Given the description of an element on the screen output the (x, y) to click on. 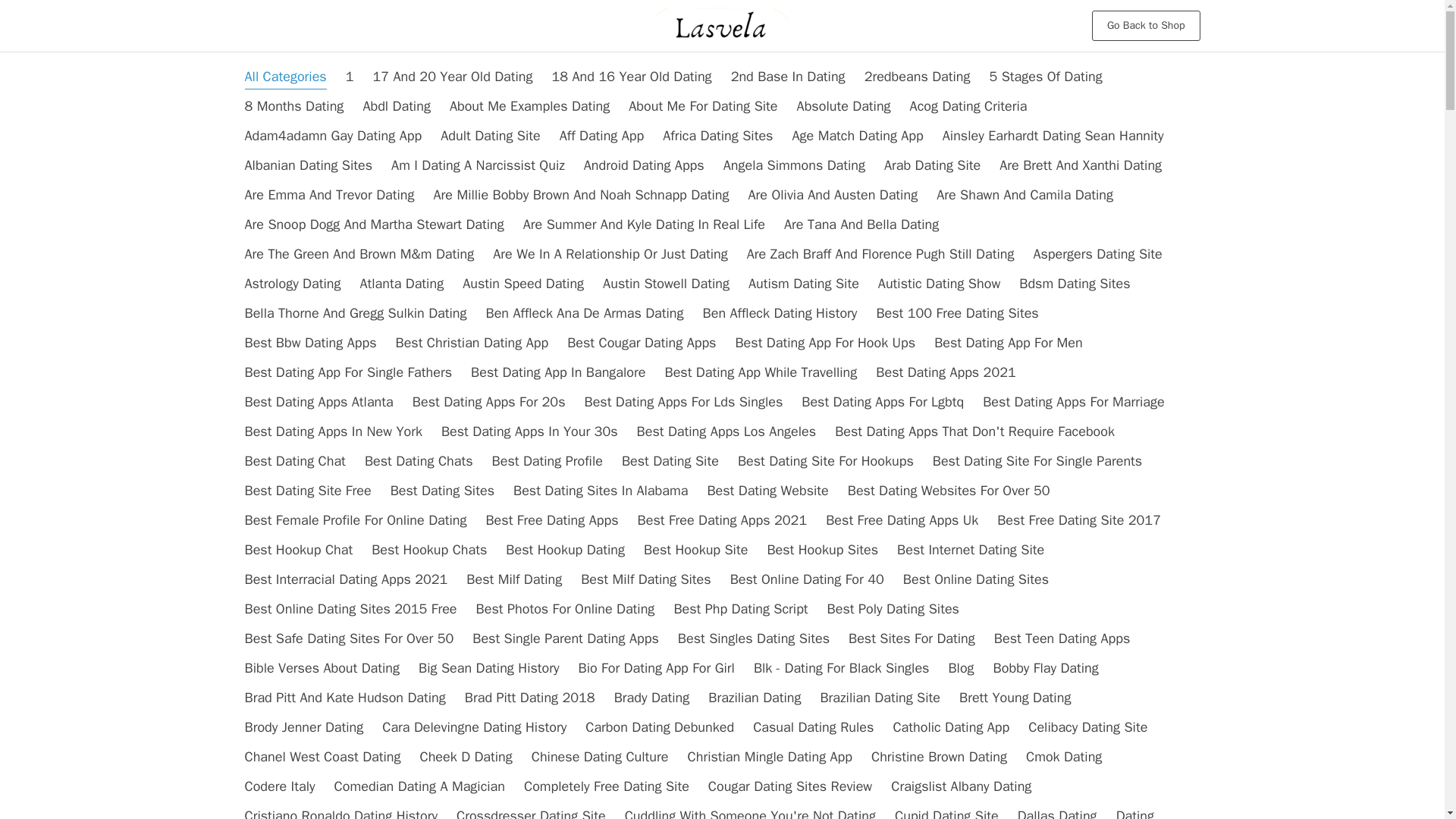
Ainsley Earhardt Dating Sean Hannity (1052, 135)
Are Shawn And Camila Dating (1024, 194)
Am I Dating A Narcissist Quiz (477, 165)
Are Snoop Dogg And Martha Stewart Dating (373, 224)
18 And 16 Year Old Dating (631, 76)
Are Tana And Bella Dating (861, 224)
Are Brett And Xanthi Dating (1079, 165)
Are Zach Braff And Florence Pugh Still Dating (880, 253)
All Categories (285, 76)
Arab Dating Site (931, 165)
Adult Dating Site (490, 135)
Aff Dating App (601, 135)
8 Months Dating (293, 106)
Adam4adamn Gay Dating App (333, 135)
Acog Dating Criteria (968, 106)
